Given the description of an element on the screen output the (x, y) to click on. 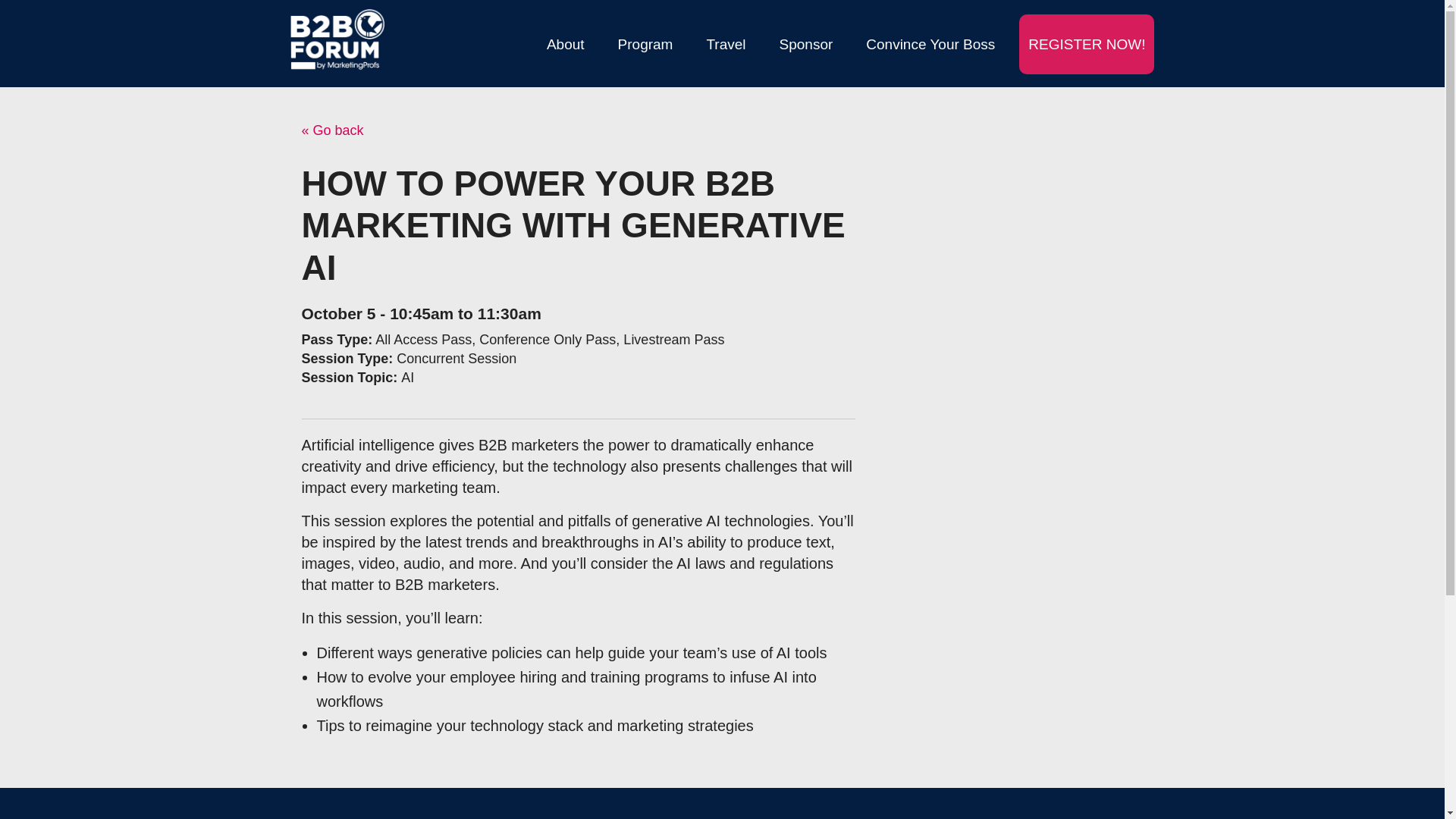
Program (645, 44)
Sponsor (806, 44)
About (565, 44)
Travel (725, 44)
Return to the previous page (332, 130)
Convince Your Boss (930, 44)
REGISTER NOW! (1086, 44)
